Given the description of an element on the screen output the (x, y) to click on. 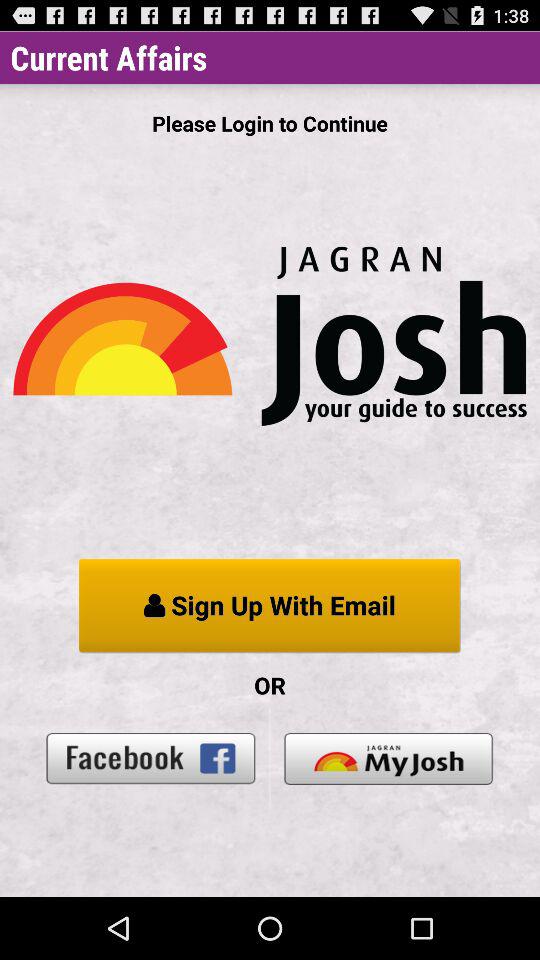
tap the icon below the or (388, 758)
